Given the description of an element on the screen output the (x, y) to click on. 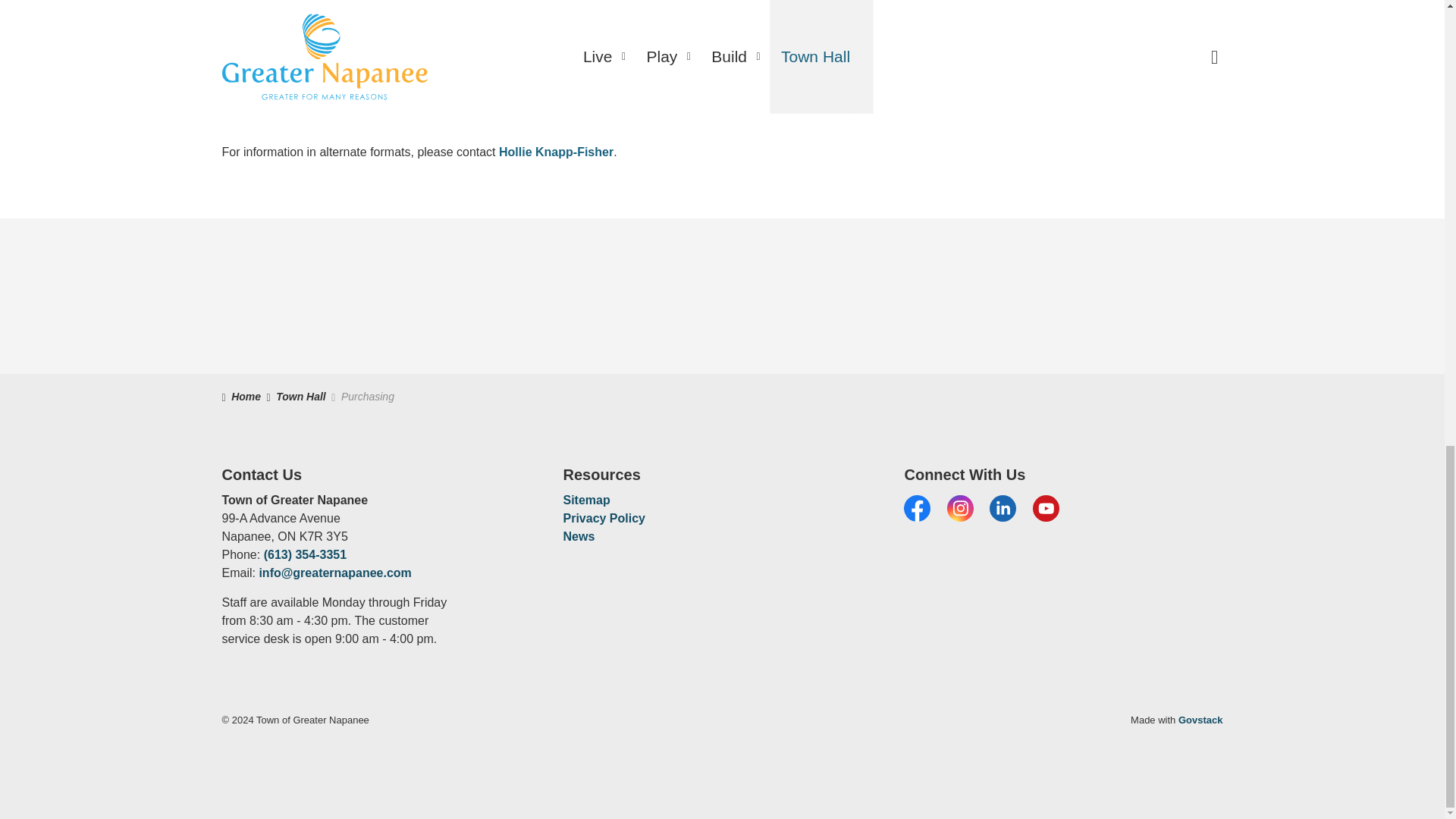
Privacy Policy (603, 517)
Sitemap (586, 499)
News (578, 535)
